Given the description of an element on the screen output the (x, y) to click on. 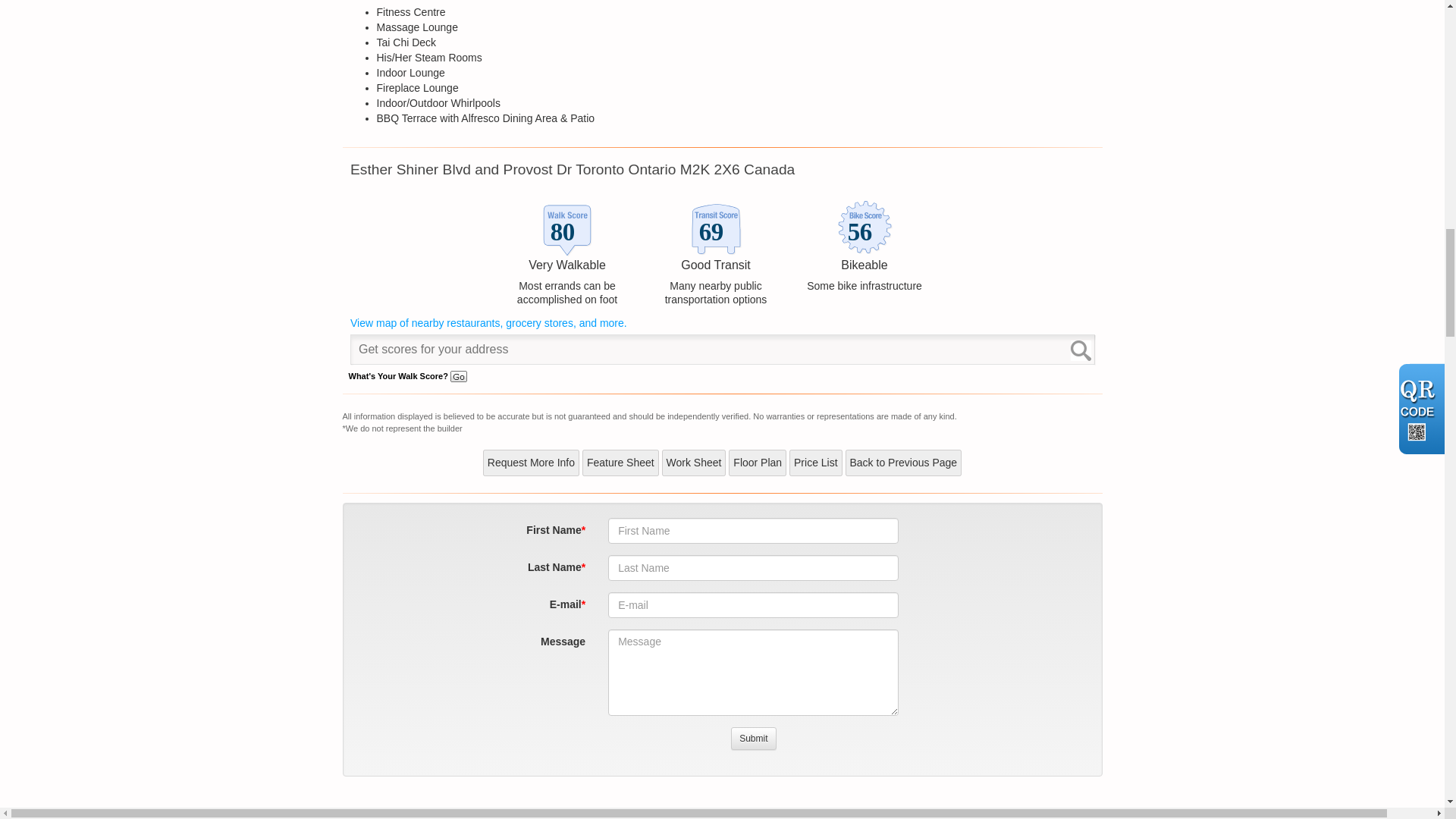
Request More Info (531, 462)
Floor Plan (757, 462)
Back to Previous Page (902, 462)
Feature Sheet (620, 462)
Price List (816, 462)
Submit (753, 738)
Work Sheet (694, 462)
What's Your Walk Score? (408, 375)
Submit (753, 738)
